Given the description of an element on the screen output the (x, y) to click on. 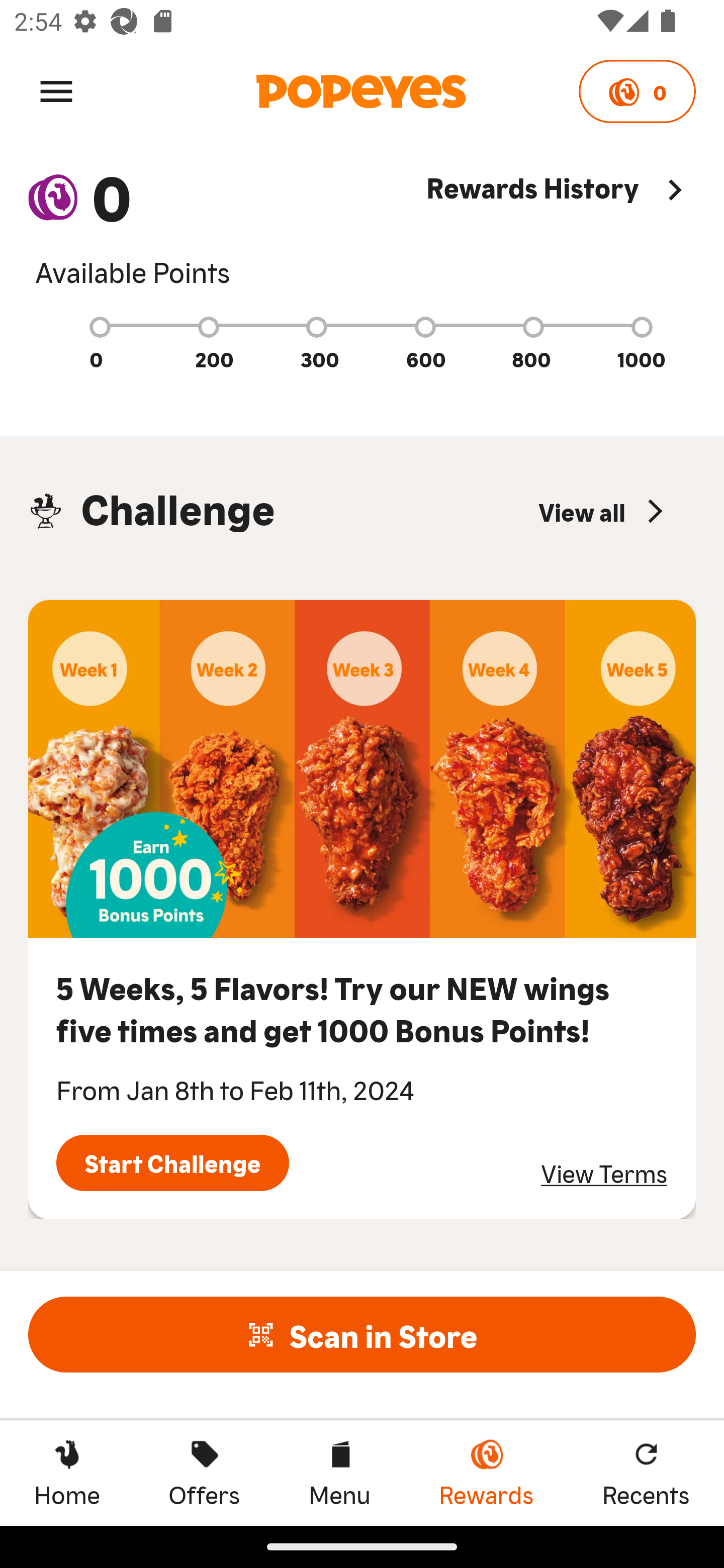
Menu  (56, 90)
0 Points 0 (636, 91)
Rewards History Rewards History  (560, 228)
View all (602, 511)
quest image (361, 768)
Start Challenge (172, 1163)
View Terms (603, 1172)
Scan in Store  Scan in Store (361, 1334)
Home Home Home (66, 1472)
Offers Offers Offers (203, 1472)
Menu Menu Menu (339, 1472)
Recents Recents Recents (646, 1472)
